Given the description of an element on the screen output the (x, y) to click on. 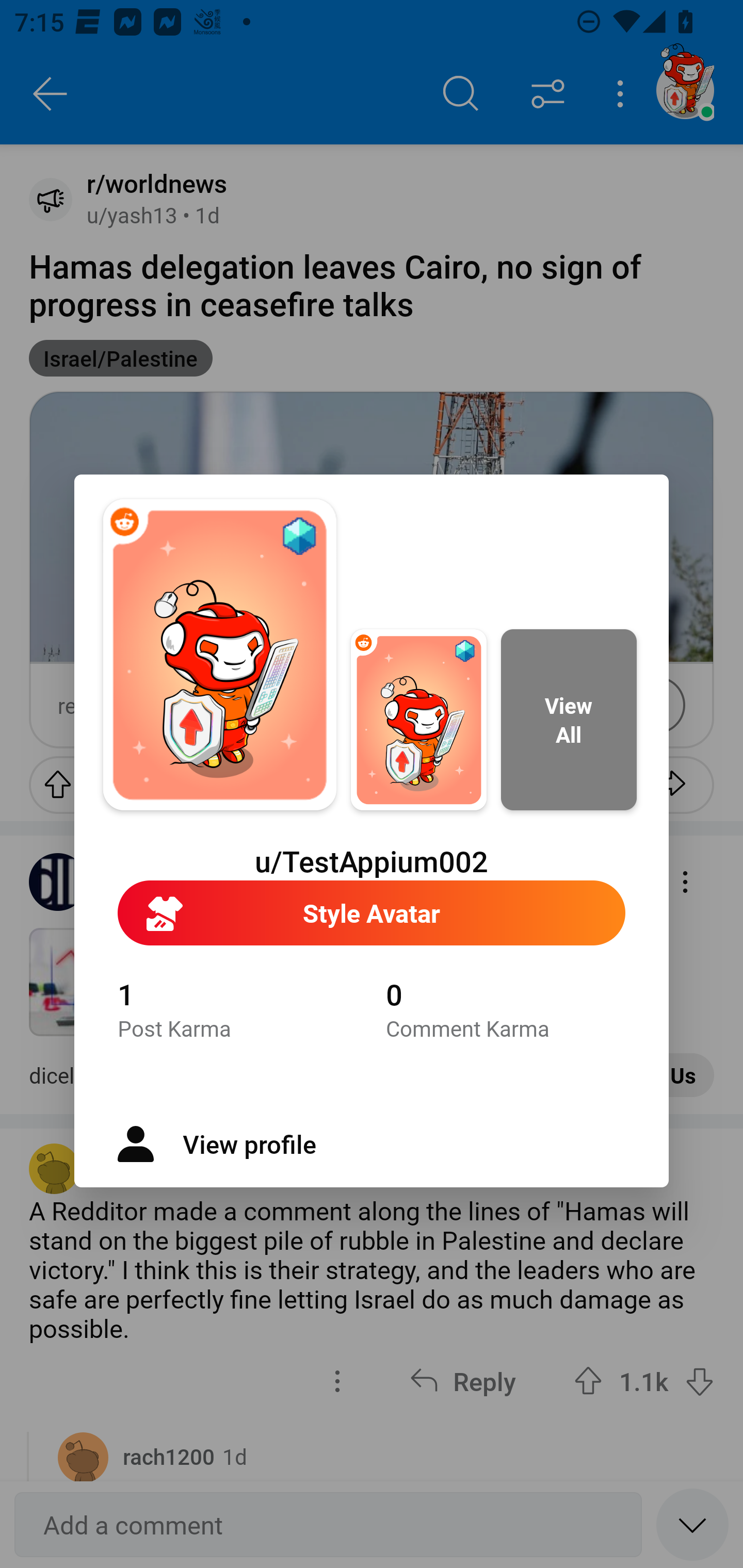
u/TestAppium002 (371, 861)
Style Avatar (371, 913)
View profile (371, 1143)
